Given the description of an element on the screen output the (x, y) to click on. 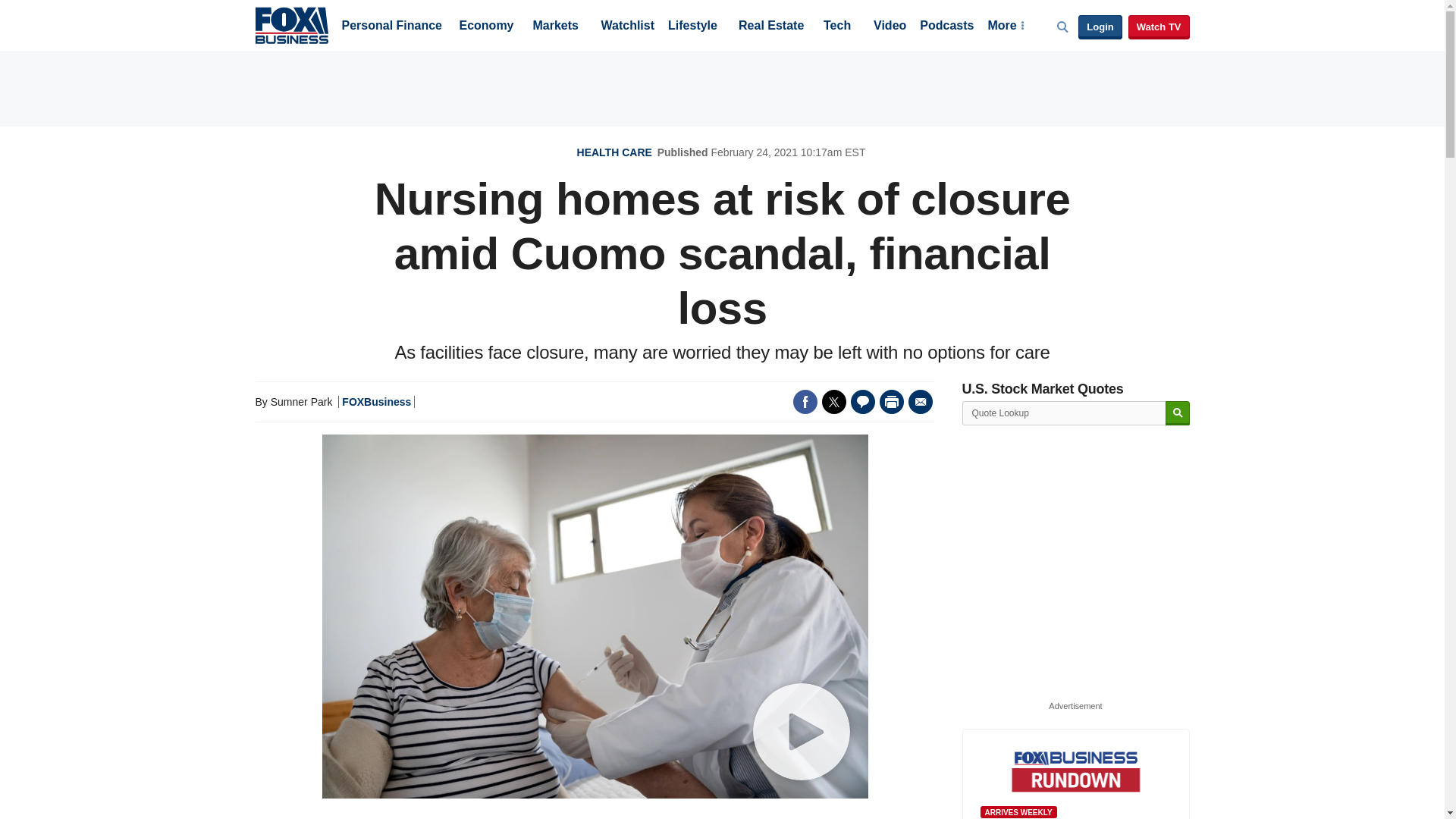
Lifestyle (692, 27)
Markets (555, 27)
More (1005, 27)
Economy (486, 27)
Watch TV (1158, 27)
Tech (837, 27)
Video (889, 27)
Personal Finance (391, 27)
Search (1176, 413)
Real Estate (770, 27)
Login (1099, 27)
Search (1176, 413)
Podcasts (947, 27)
Fox Business (290, 24)
Watchlist (626, 27)
